Given the description of an element on the screen output the (x, y) to click on. 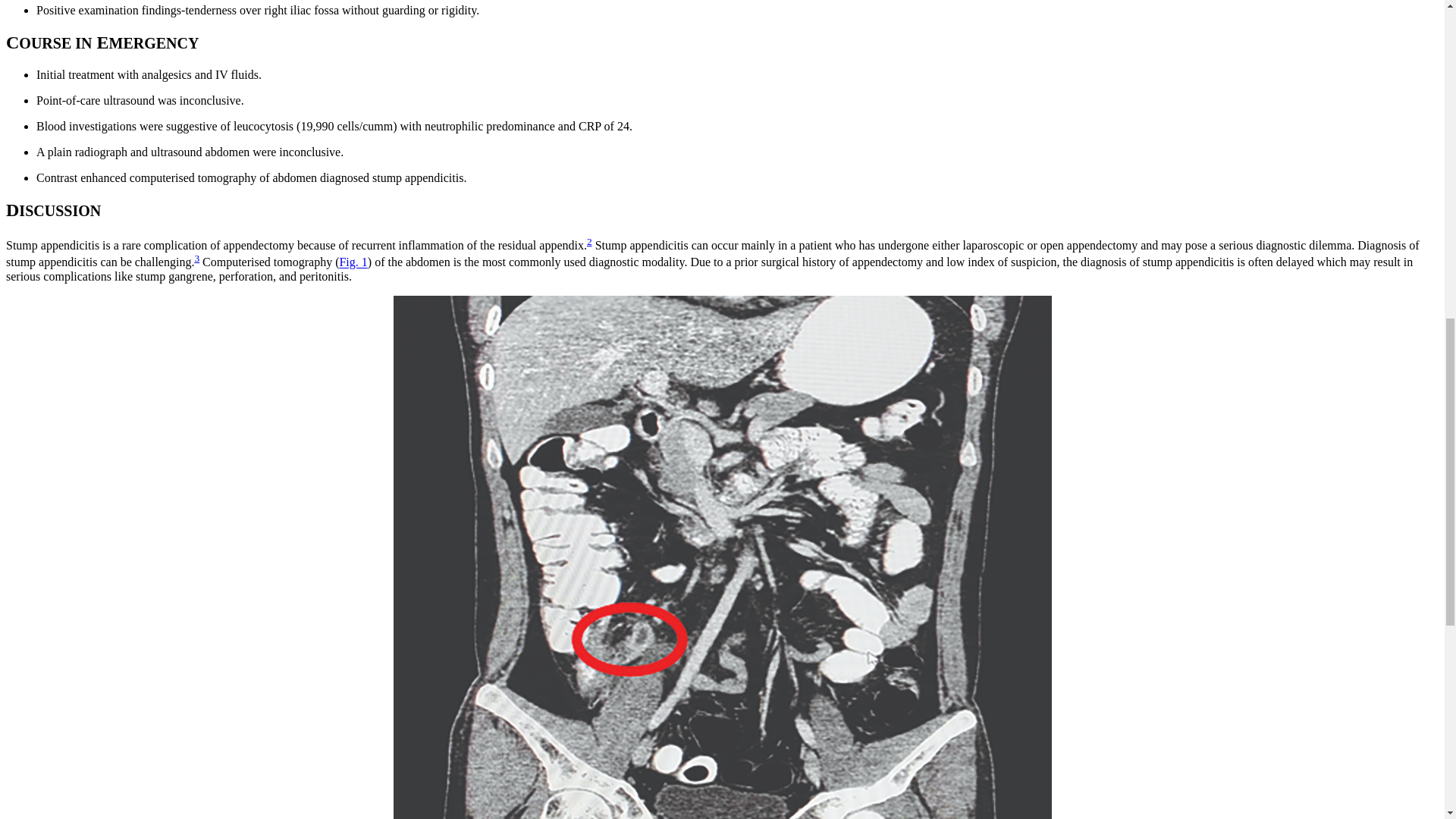
Fig. 1 (352, 262)
